Given the description of an element on the screen output the (x, y) to click on. 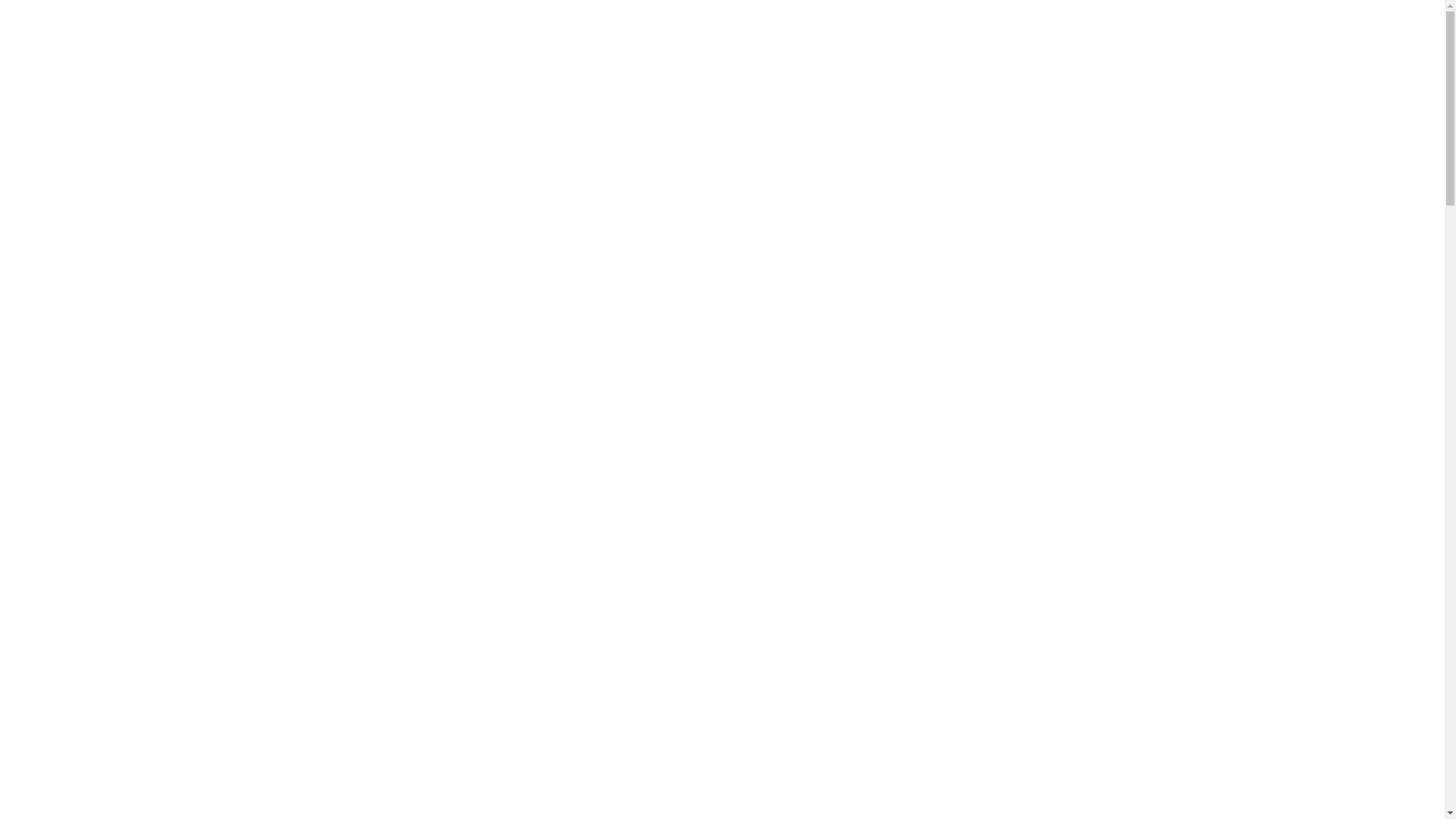
                Element type: text (980, 59)
